Given the description of an element on the screen output the (x, y) to click on. 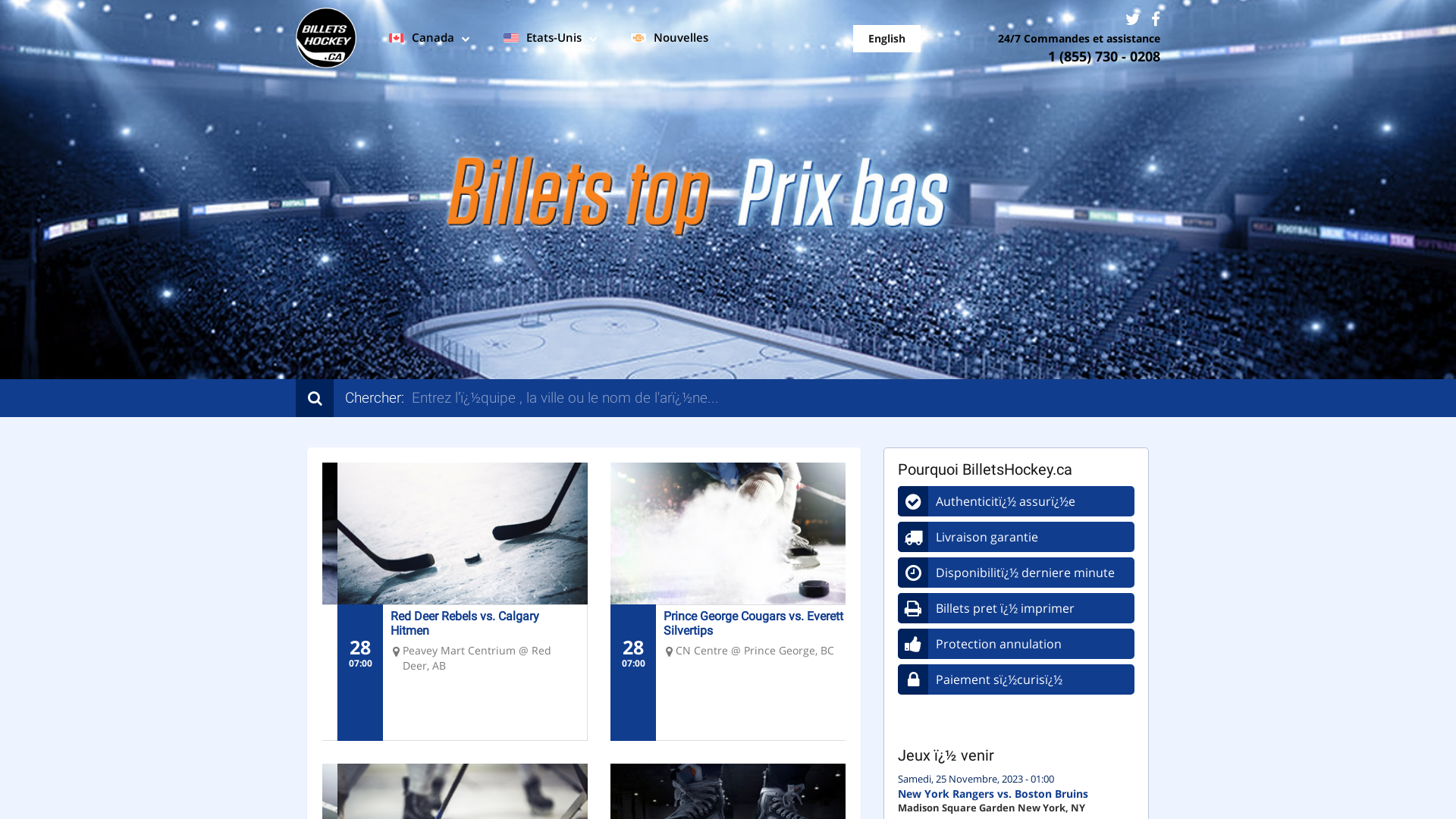
San Jose Sharks vs. Washington Capitals Element type: text (736, 622)
Nouvelles Element type: text (666, 39)
English Element type: text (885, 38)
Etats-Unis Element type: text (547, 39)
Canada Element type: text (427, 39)
Peterborough Petes vs. Sudbury Wolves Element type: text (460, 622)
BilletsHockey.ca Element type: hover (325, 37)
1 (855) 730 - 0208 Element type: text (1104, 56)
New York Rangers vs. Boston Bruins Element type: text (992, 793)
